Given the description of an element on the screen output the (x, y) to click on. 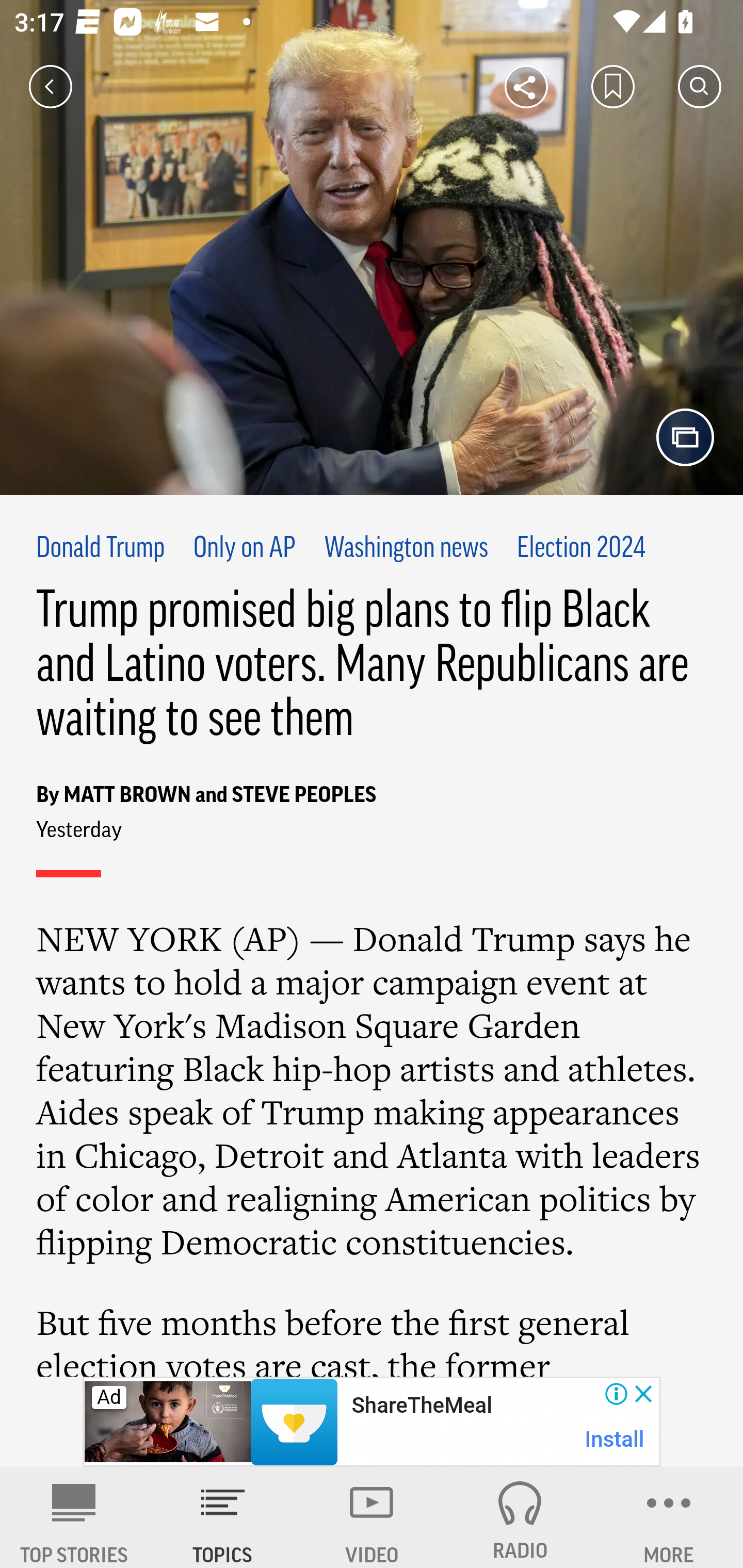
Donald Trump (101, 549)
Only on AP (243, 549)
Washington news (405, 549)
Election 2024 (581, 549)
ShareTheMeal (420, 1405)
Install (614, 1438)
AP News TOP STORIES (74, 1517)
TOPICS (222, 1517)
VIDEO (371, 1517)
RADIO (519, 1517)
MORE (668, 1517)
